Given the description of an element on the screen output the (x, y) to click on. 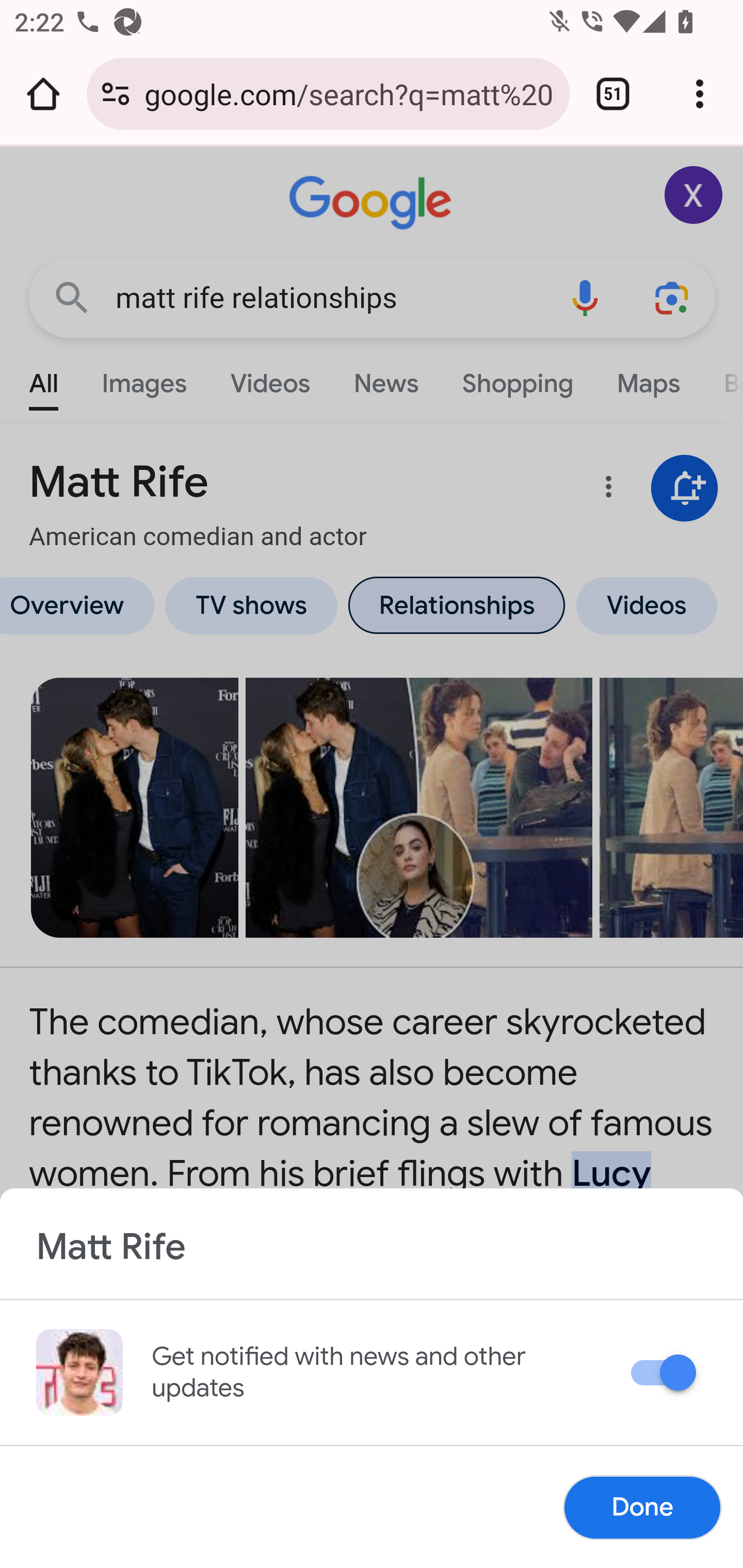
Open the home page (43, 93)
Connection is secure (115, 93)
Switch or close tabs (612, 93)
Customize and control Google Chrome (699, 93)
Get notifications about Matt Rife (666, 1375)
Done (642, 1507)
